Given the description of an element on the screen output the (x, y) to click on. 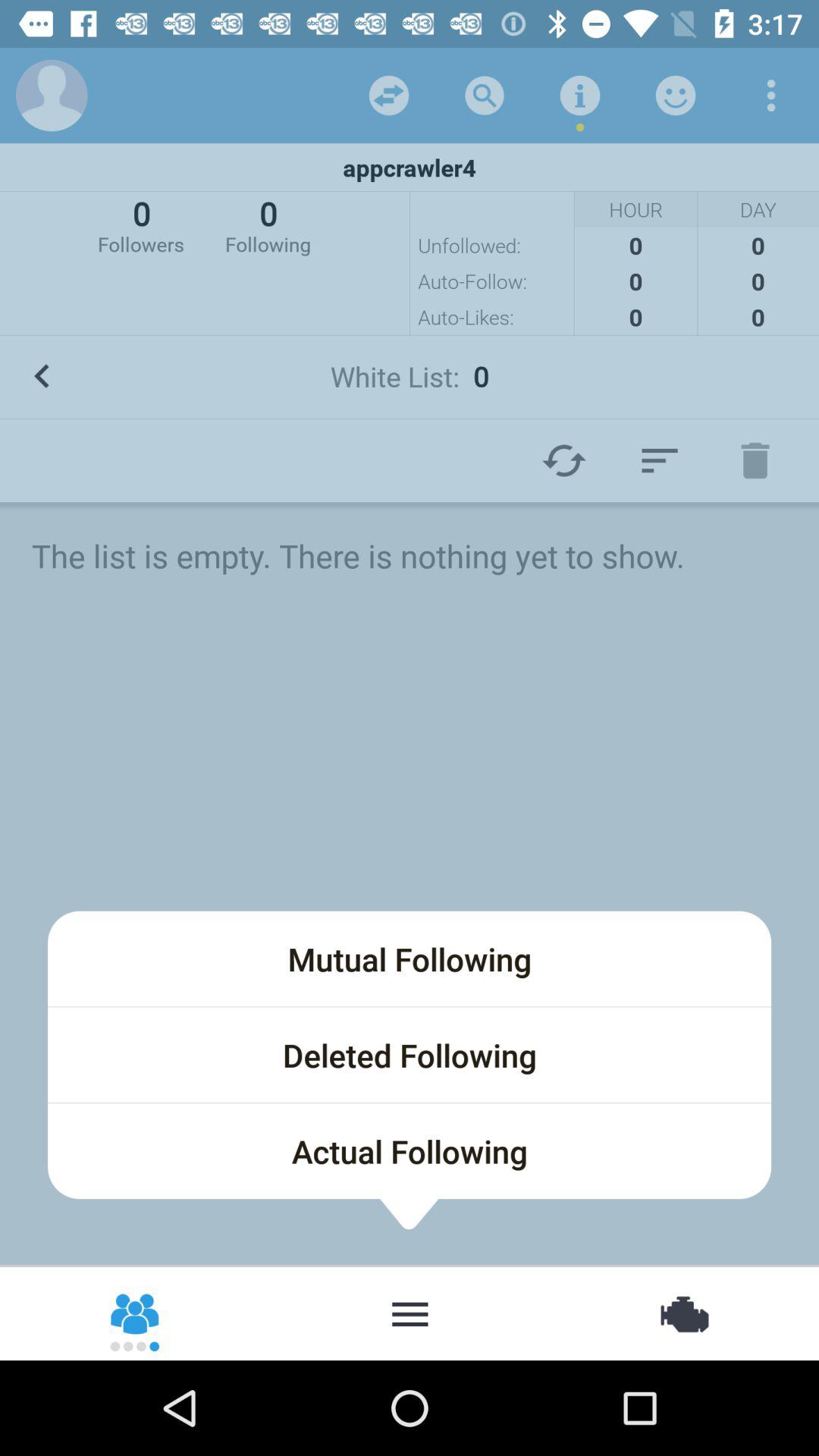
turn on the actual following (409, 1150)
